Given the description of an element on the screen output the (x, y) to click on. 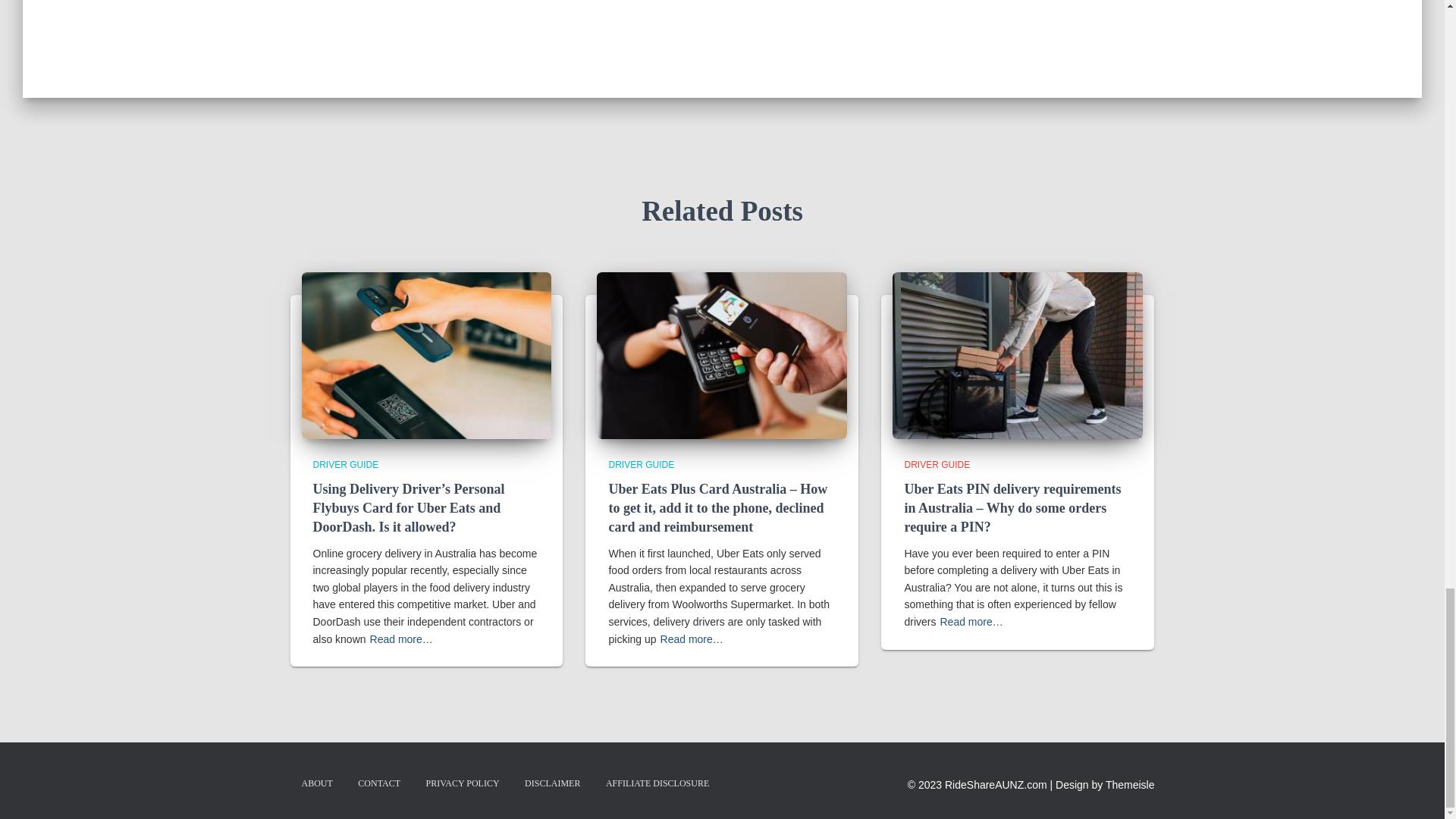
DRIVER GUIDE (641, 464)
View all posts in Driver Guide (345, 464)
DRIVER GUIDE (345, 464)
View all posts in Driver Guide (641, 464)
DRIVER GUIDE (936, 464)
